Given the description of an element on the screen output the (x, y) to click on. 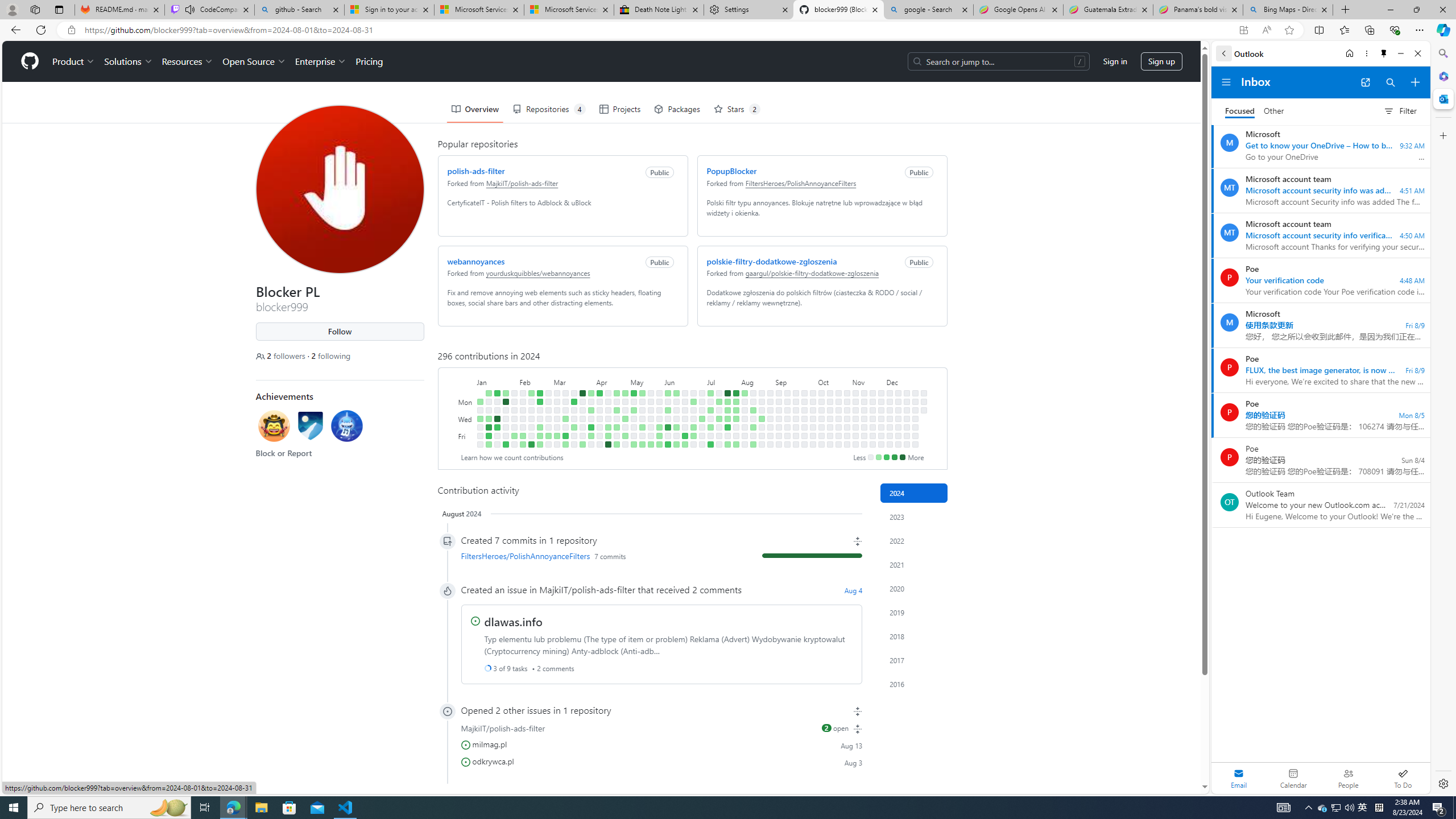
Contribution activity in 2017 (913, 659)
No contributions on September 25th. (804, 418)
No contributions on April 3rd. (591, 418)
1 contribution on July 27th. (726, 444)
To Do (1402, 777)
No contributions on October 7th. (821, 401)
1 contribution on May 11th. (633, 444)
No contributions on September 26th. (804, 427)
No contributions on June 20th. (684, 427)
No contributions on October 15th. (829, 410)
4 contributions on January 14th. (496, 392)
Projects (619, 108)
No contributions on February 14th. (530, 418)
No contributions on December 16th. (906, 401)
